Given the description of an element on the screen output the (x, y) to click on. 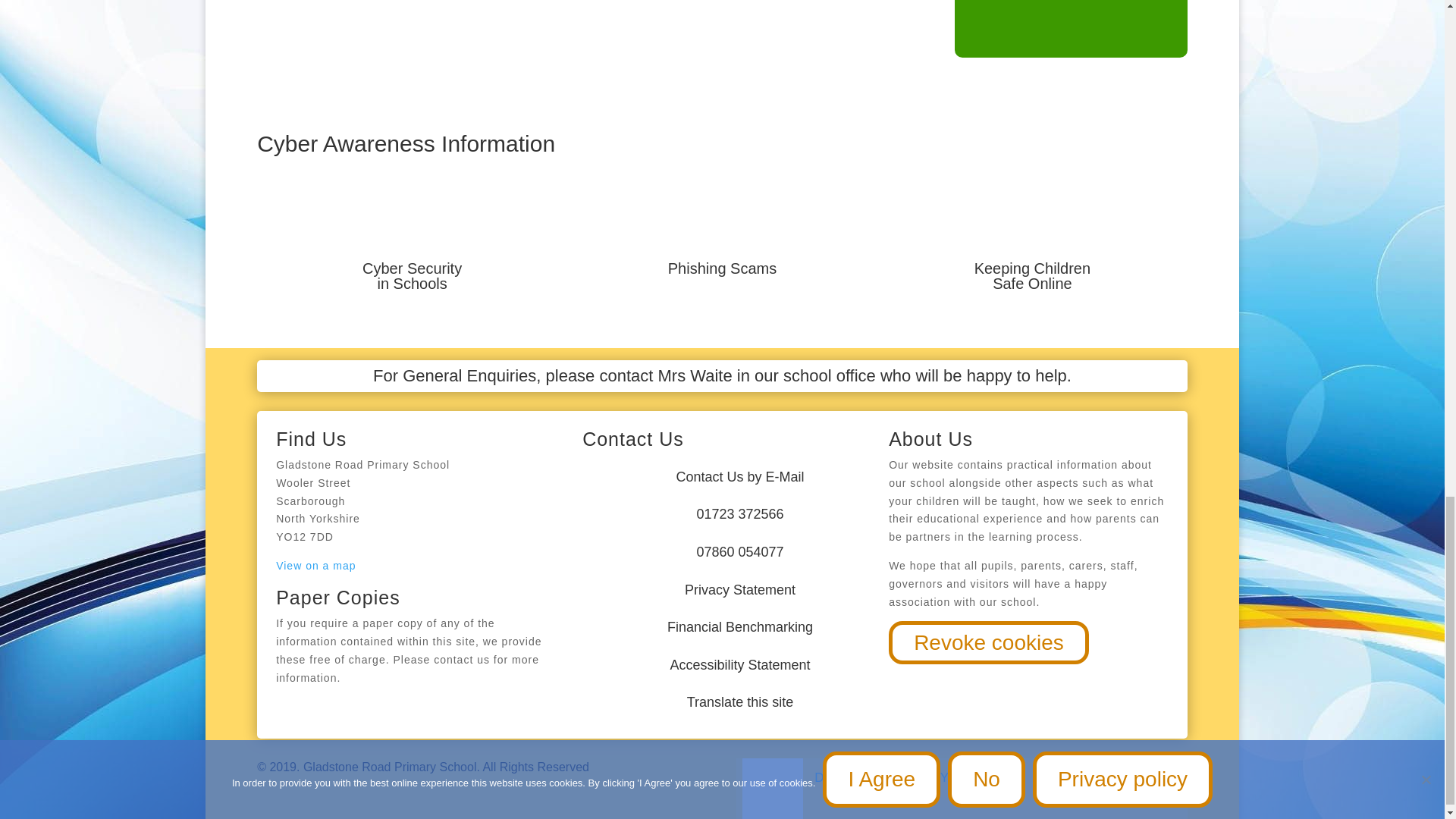
phish1 (722, 230)
cyber (412, 234)
Revoke cookies (988, 642)
